Given the description of an element on the screen output the (x, y) to click on. 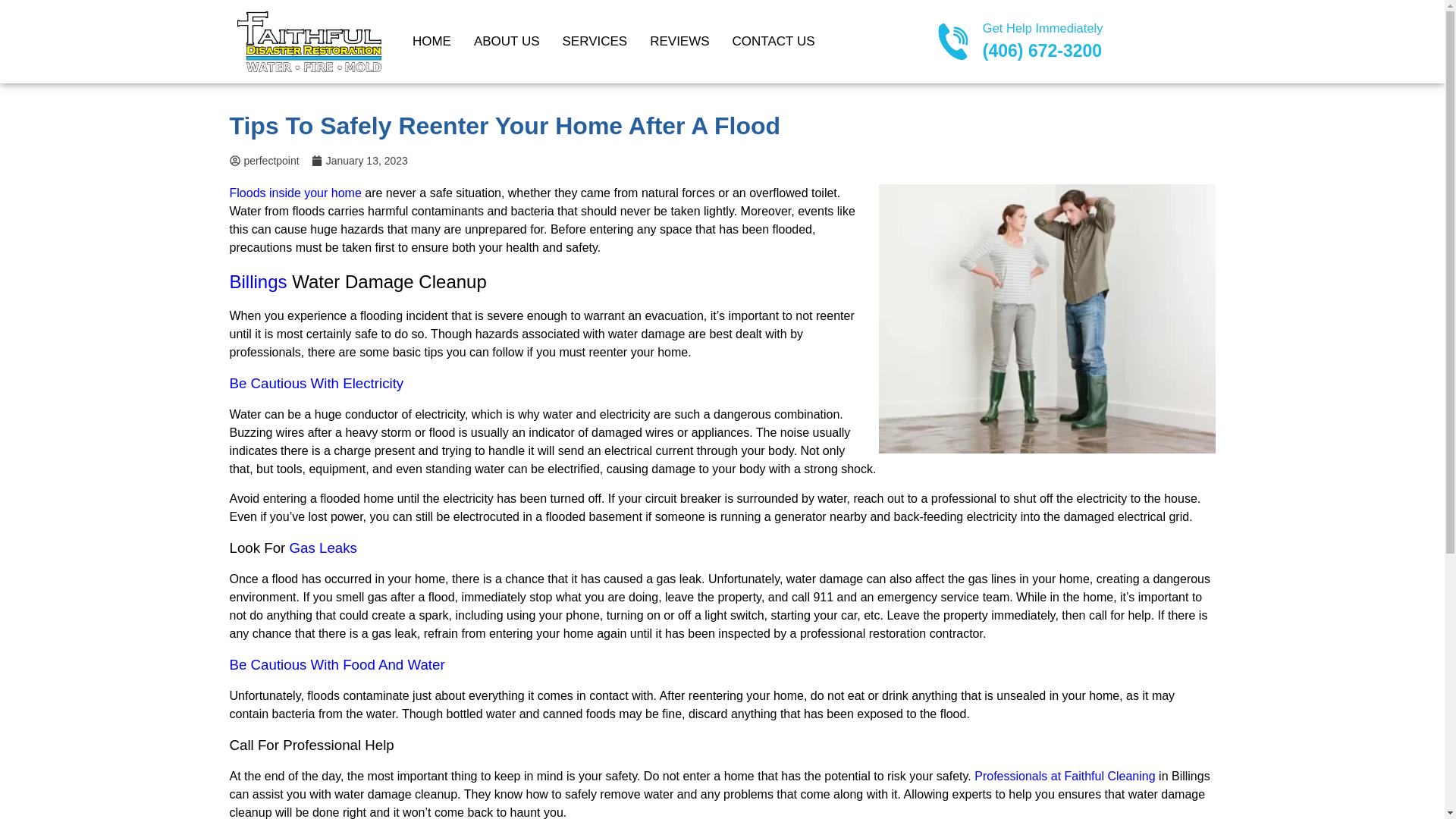
Billings (257, 281)
CONTACT US (773, 41)
Be Cautious With Electricity (315, 383)
Gas Leaks (322, 547)
SERVICES (594, 41)
perfectpoint (263, 160)
Professionals at Faithful Cleaning (1064, 775)
Floods inside your home (294, 192)
HOME (431, 41)
January 13, 2023 (359, 160)
